Given the description of an element on the screen output the (x, y) to click on. 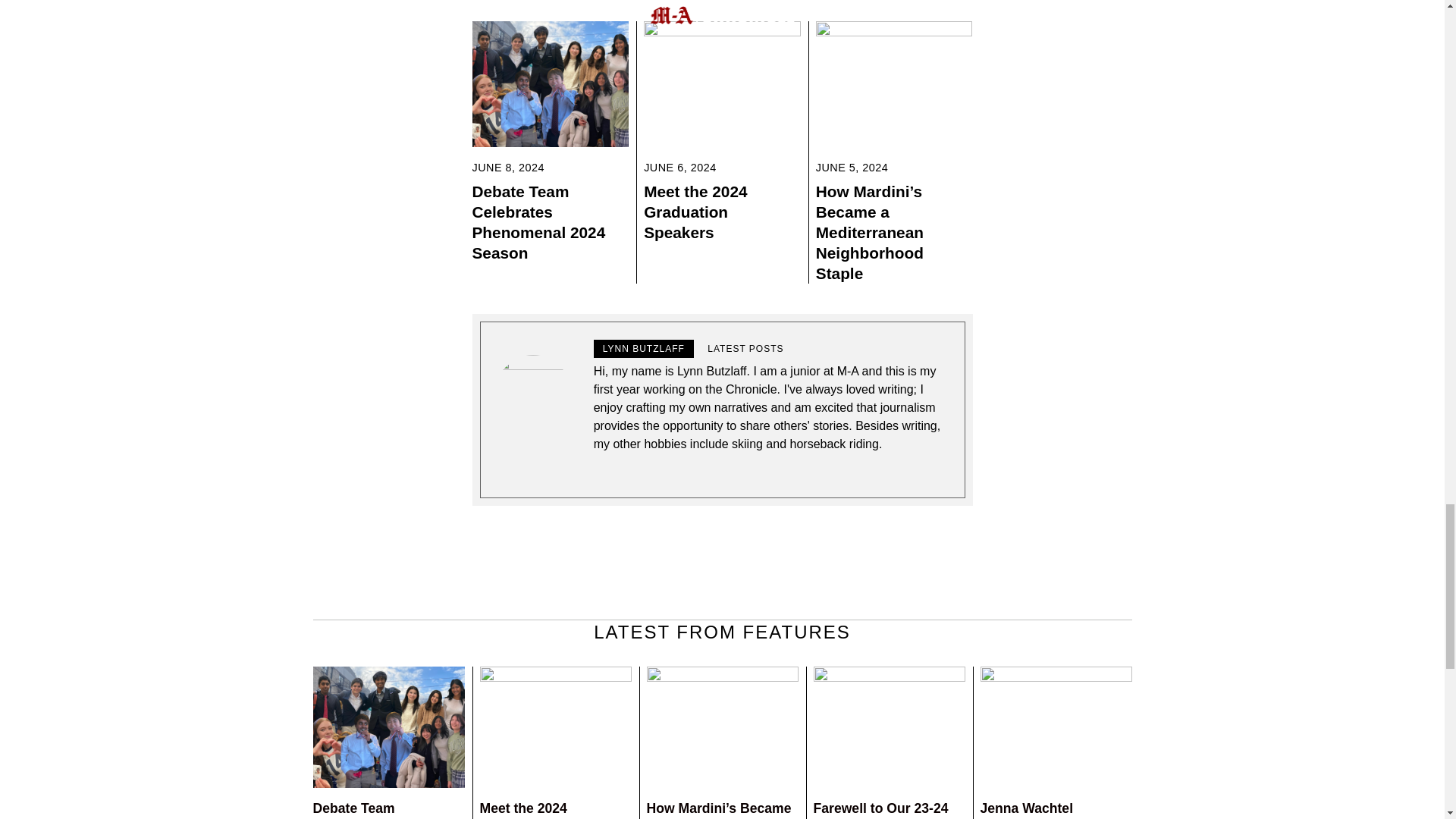
LATEST POSTS (745, 348)
Meet the 2024 Graduation Speakers (545, 809)
Farewell to Our 23-24 Editorial Board! (879, 809)
Meet the 2024 Graduation Speakers (694, 211)
LYNN BUTZLAFF (644, 348)
Debate Team Celebrates Phenomenal 2024 Season (388, 809)
Debate Team Celebrates Phenomenal 2024 Season (538, 221)
